Given the description of an element on the screen output the (x, y) to click on. 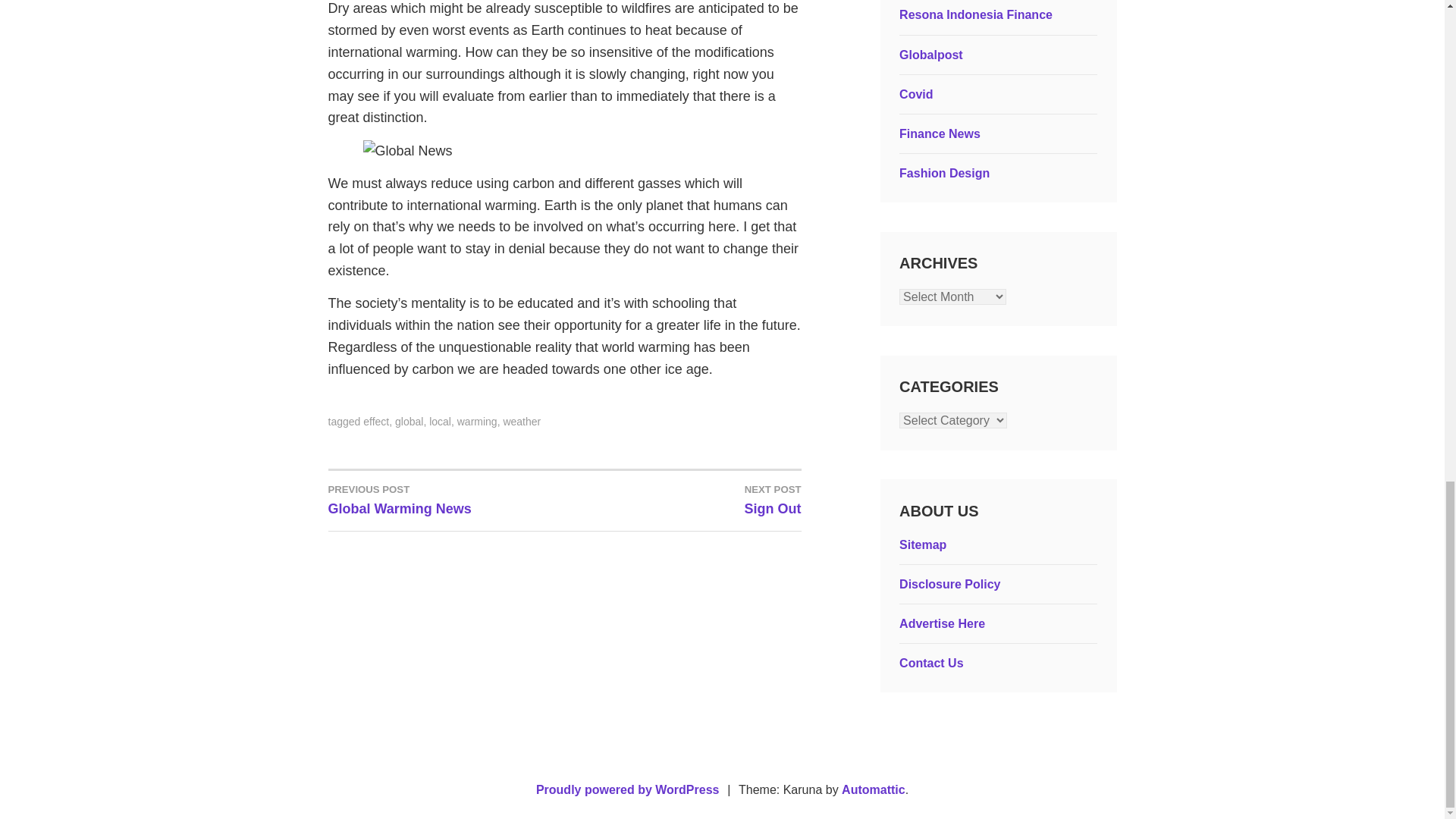
local (445, 498)
Disclosure Policy (440, 421)
Fashion Design (949, 584)
Sitemap (944, 173)
Finance News (922, 544)
warming (682, 498)
effect (939, 133)
Globalpost (477, 421)
